Given the description of an element on the screen output the (x, y) to click on. 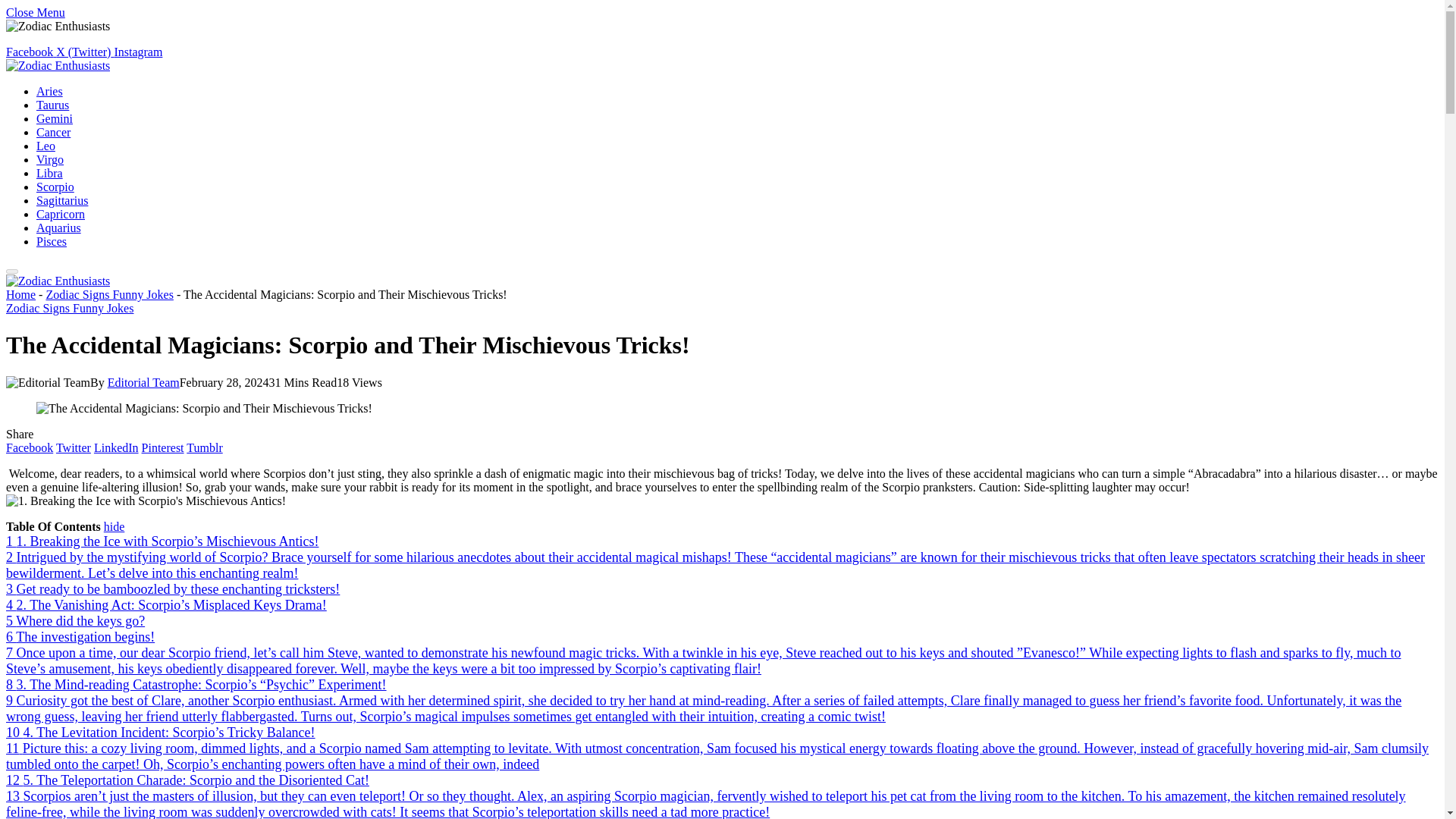
Tumblr (204, 447)
18 Article Views (358, 382)
Pinterest (162, 447)
hide (114, 526)
Zodiac Enthusiasts (57, 65)
Scorpio (55, 186)
Taurus (52, 104)
Aquarius (58, 227)
Leo (45, 145)
5 Where did the keys go? (74, 620)
